Given the description of an element on the screen output the (x, y) to click on. 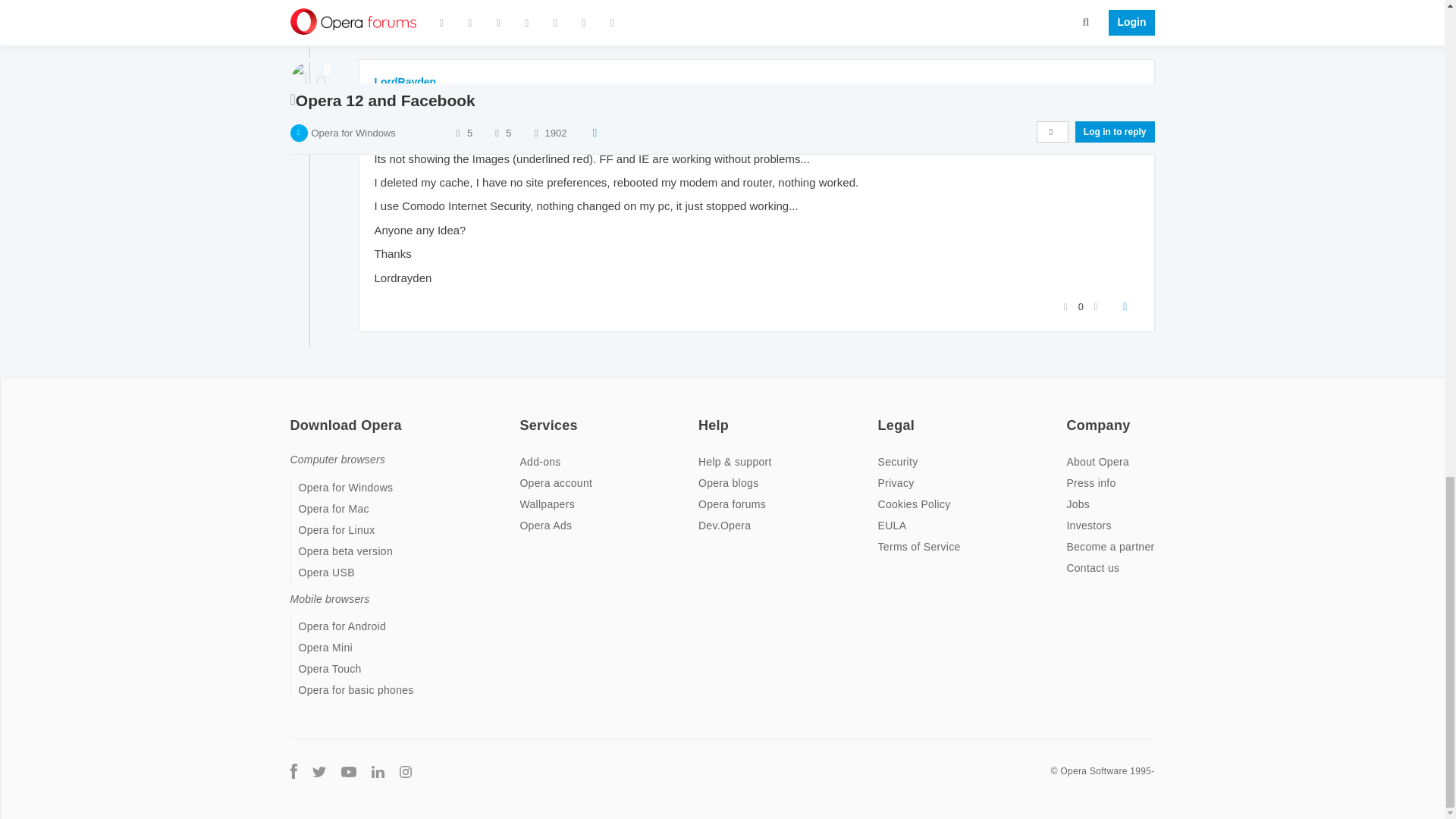
on (702, 415)
on (1070, 415)
on (881, 415)
on (523, 415)
on (293, 415)
